Given the description of an element on the screen output the (x, y) to click on. 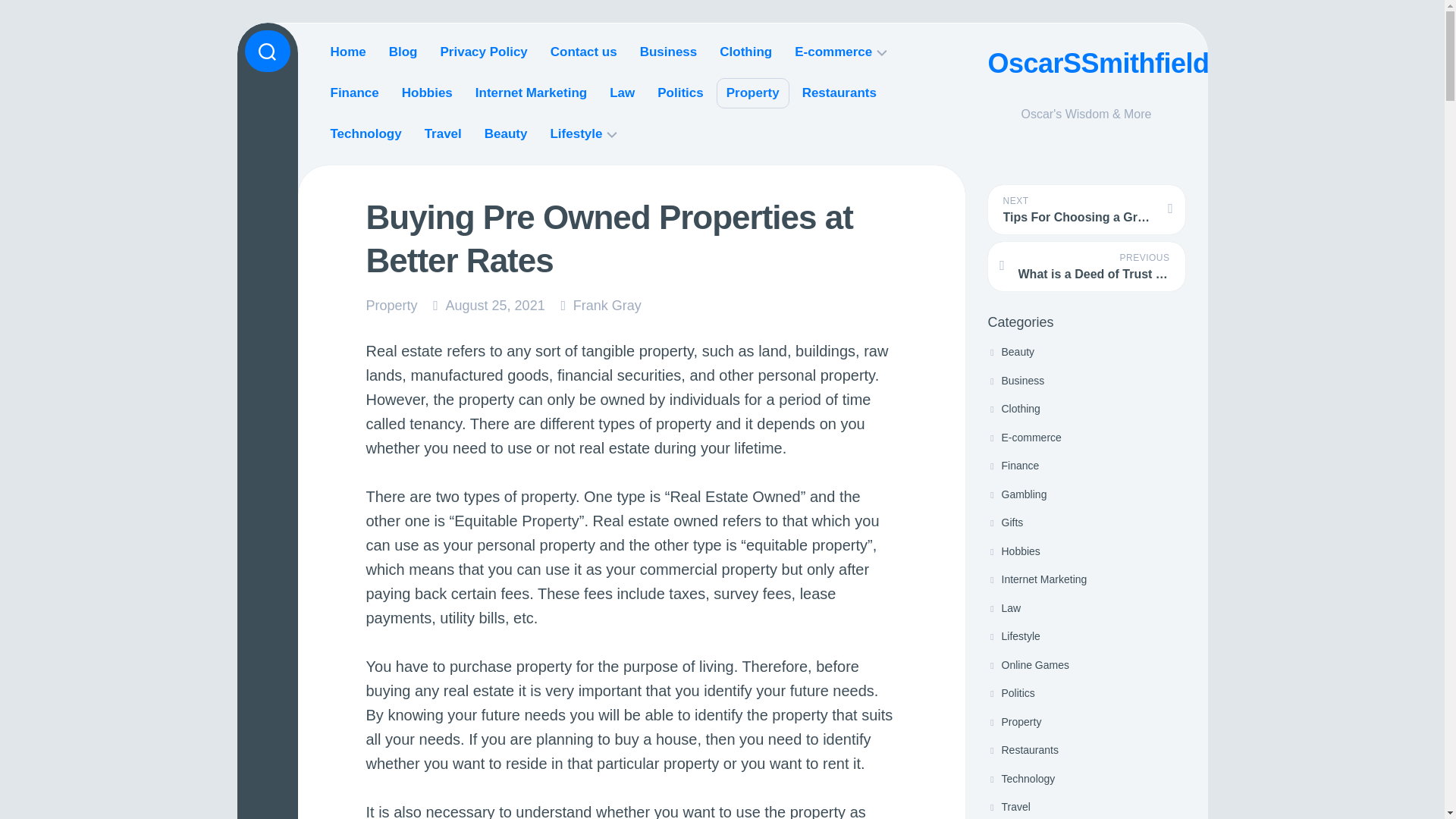
Internet Marketing (1036, 579)
Lifestyle (1013, 635)
Clothing (1013, 408)
Restaurants (1022, 749)
Technology (1020, 778)
Business (1015, 380)
OscarSSmithfield.com (1086, 63)
Politics (1010, 693)
Gambling (1016, 494)
